Given the description of an element on the screen output the (x, y) to click on. 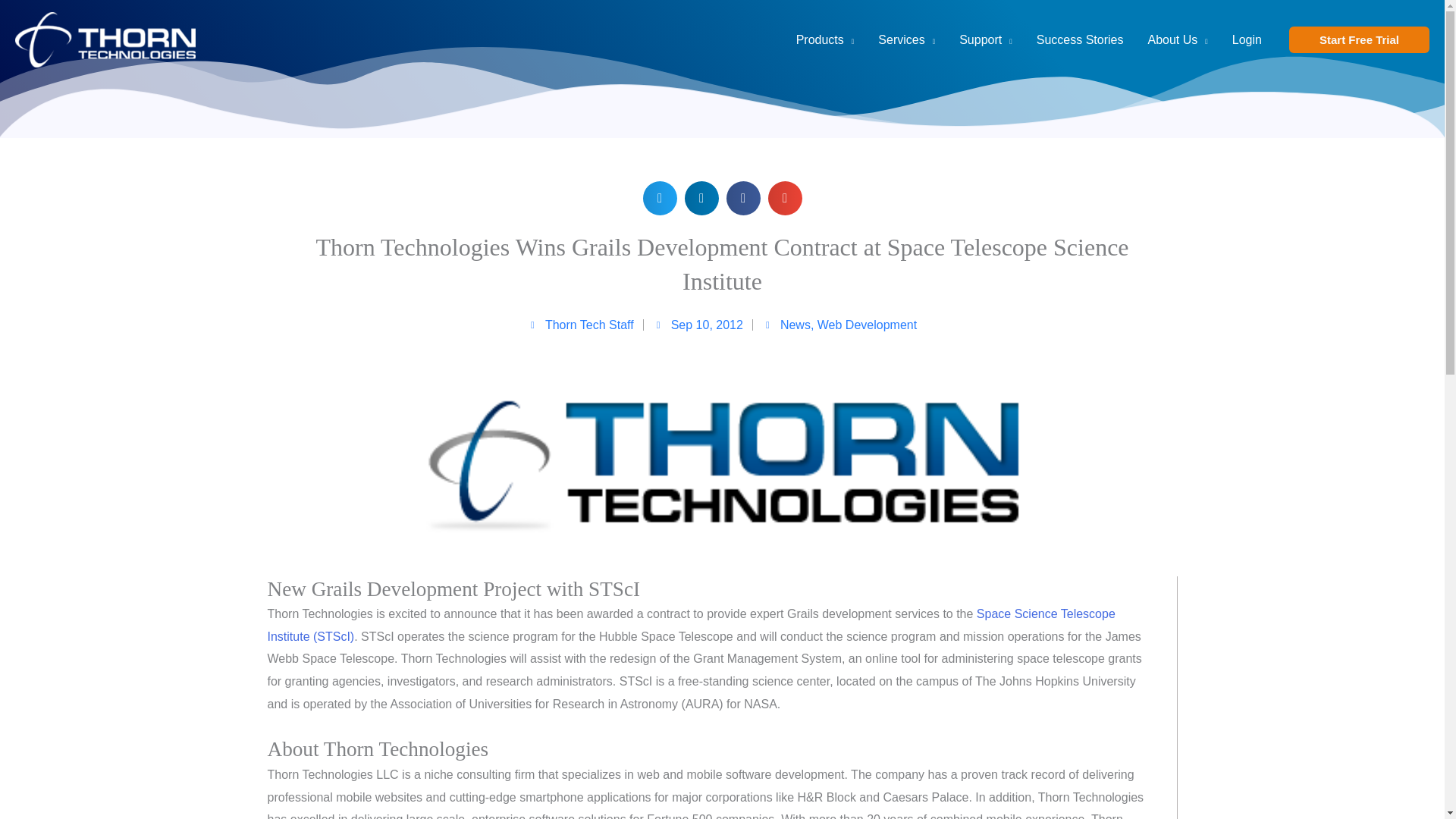
About Us (1177, 39)
Thorn Tech Staff (580, 324)
Start Free Trial (1358, 39)
Services (906, 39)
Login (1247, 39)
Sep 10, 2012 (697, 324)
Products (825, 39)
Success Stories (1080, 39)
Thorn Tech Wins Grails Development Contract at STScI (690, 624)
Support (986, 39)
